Given the description of an element on the screen output the (x, y) to click on. 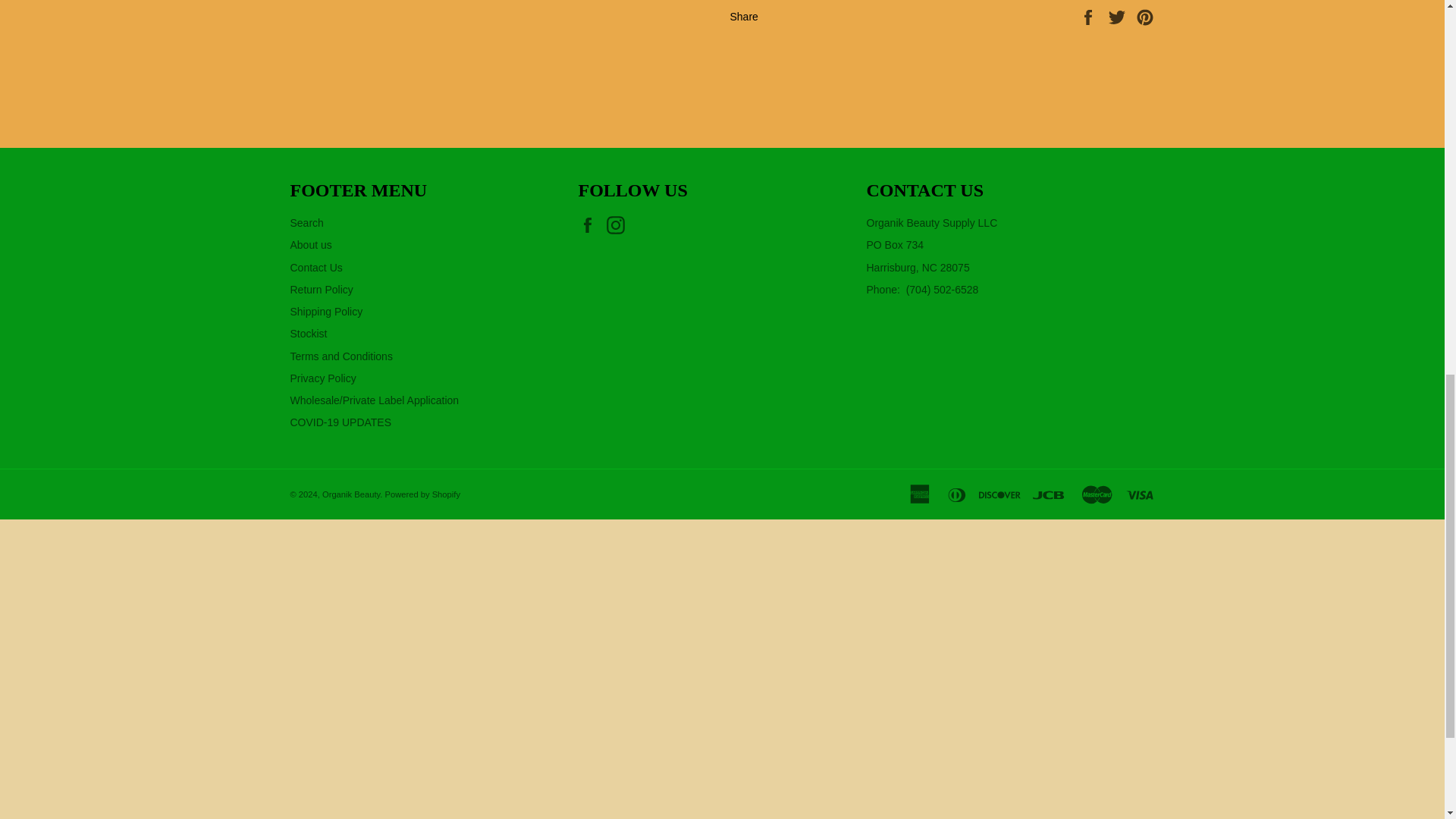
Share on Facebook (1089, 16)
Organik Beauty on Facebook (591, 225)
Pin on Pinterest (1144, 16)
Organik Beauty on Instagram (619, 225)
Tweet on Twitter (1118, 16)
